Given the description of an element on the screen output the (x, y) to click on. 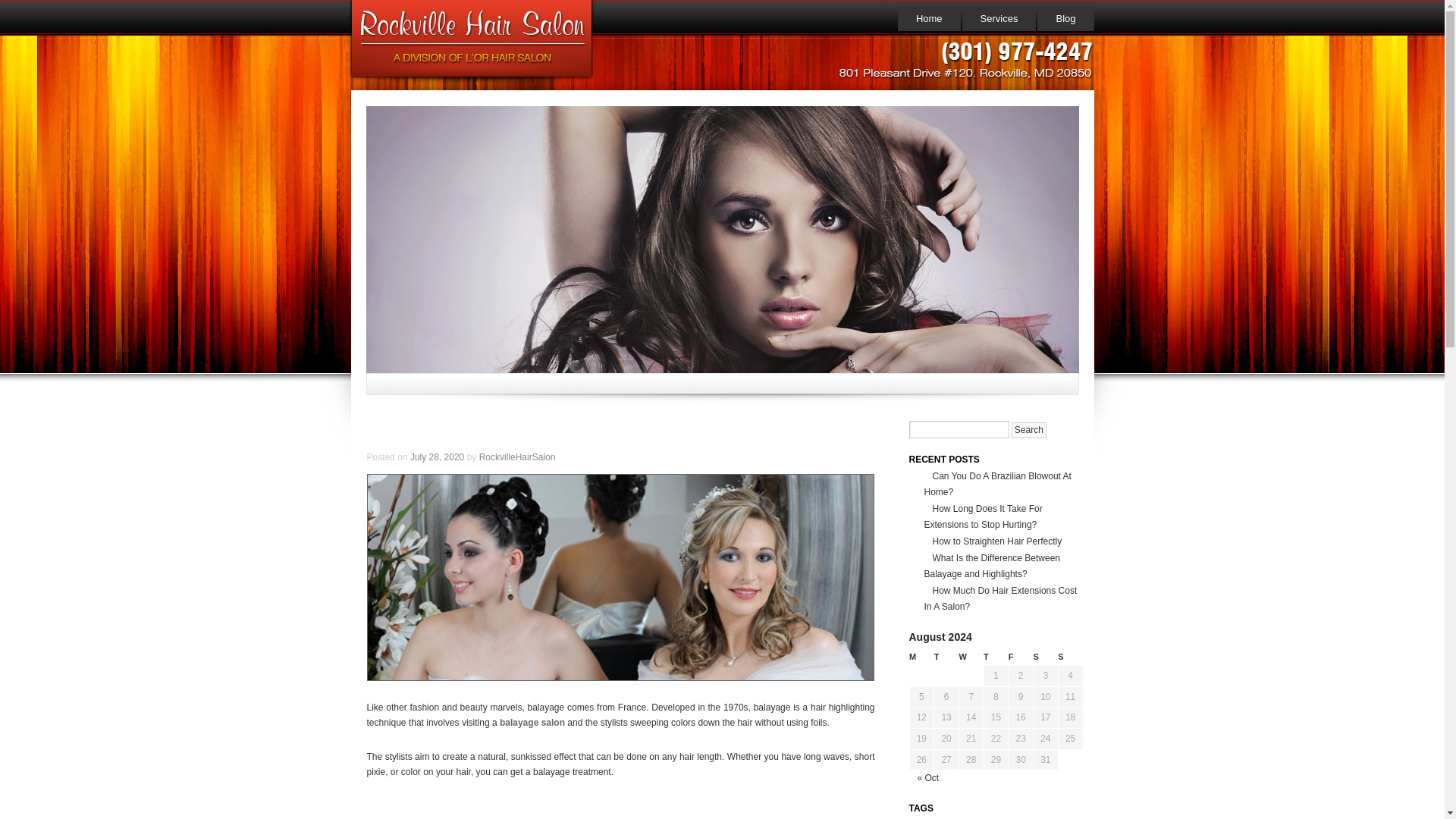
Wednesday (971, 657)
7:11 am (437, 457)
Blog (1064, 18)
Home (929, 18)
Sunday (1070, 657)
Tuesday (946, 657)
Thursday (996, 657)
Friday (1021, 657)
View all posts by RockvilleHairSalon (517, 457)
Saturday (1045, 657)
